Given the description of an element on the screen output the (x, y) to click on. 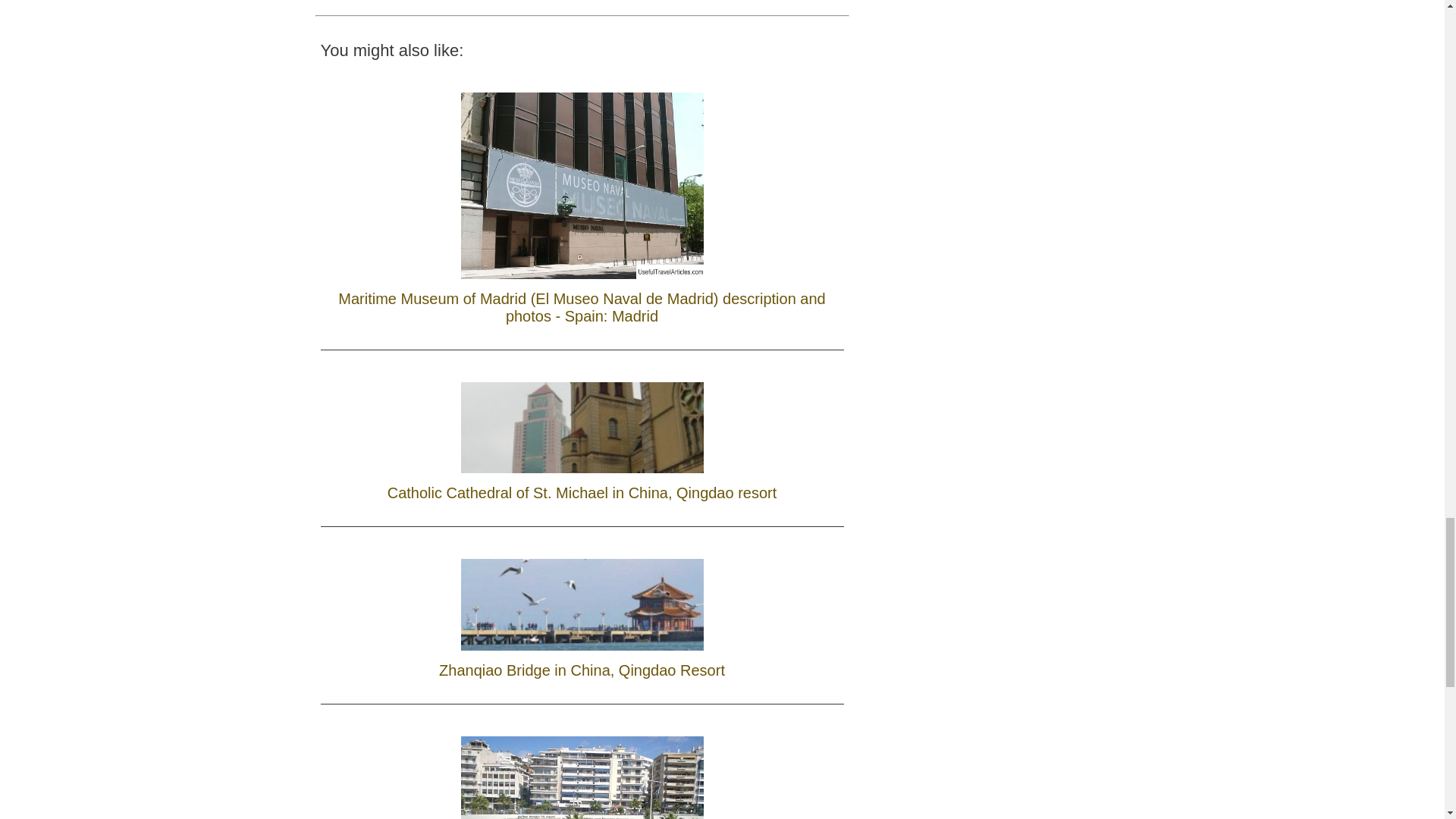
Zhanqiao Bridge in China, Qingdao Resort (581, 615)
Catholic Cathedral of St. Michael in China, Qingdao resort (582, 438)
Kelly Costine (412, 2)
